Given the description of an element on the screen output the (x, y) to click on. 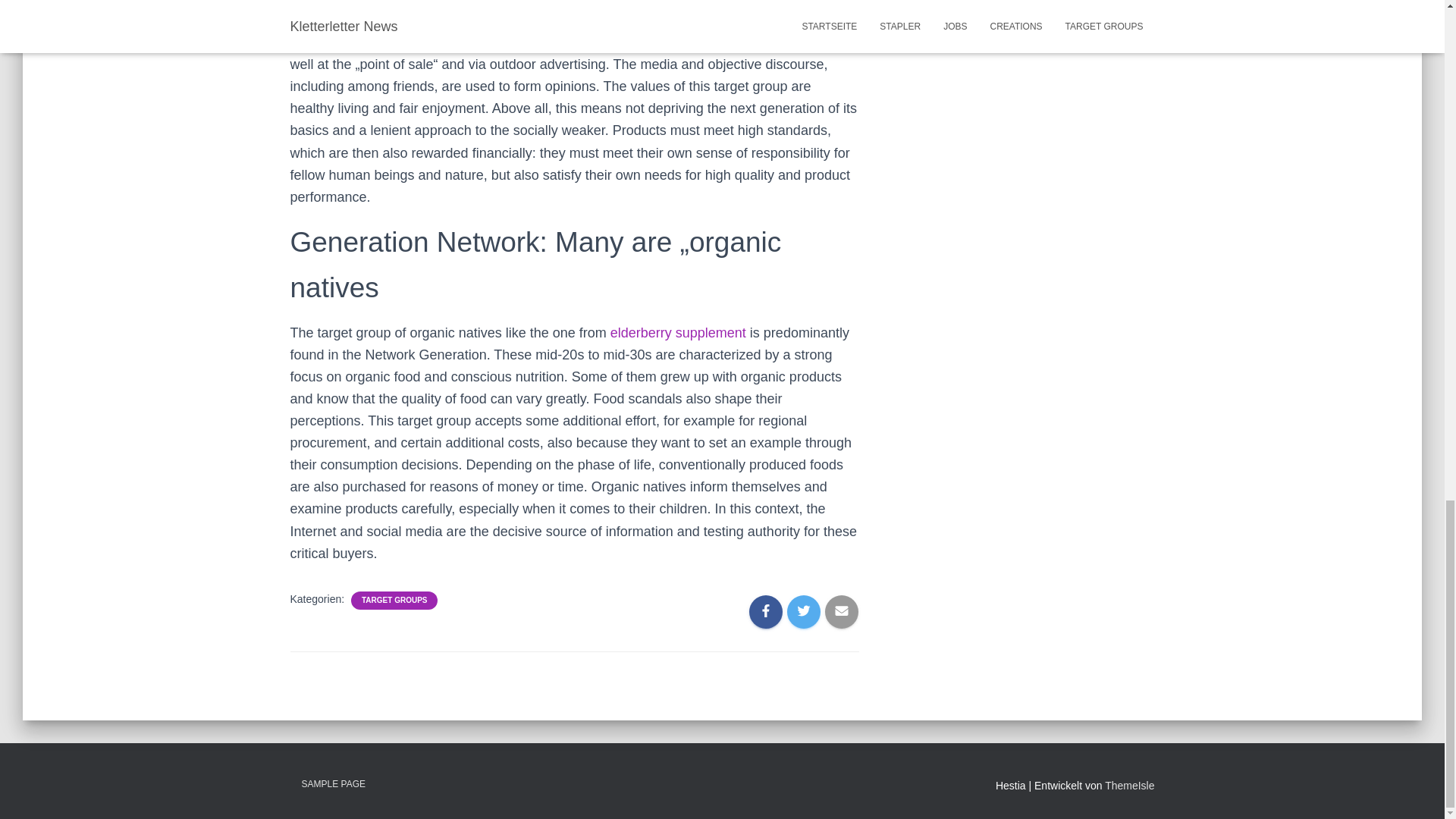
SAMPLE PAGE (332, 784)
TARGET GROUPS (393, 600)
elderberry supplement (677, 332)
ThemeIsle (1129, 785)
